Given the description of an element on the screen output the (x, y) to click on. 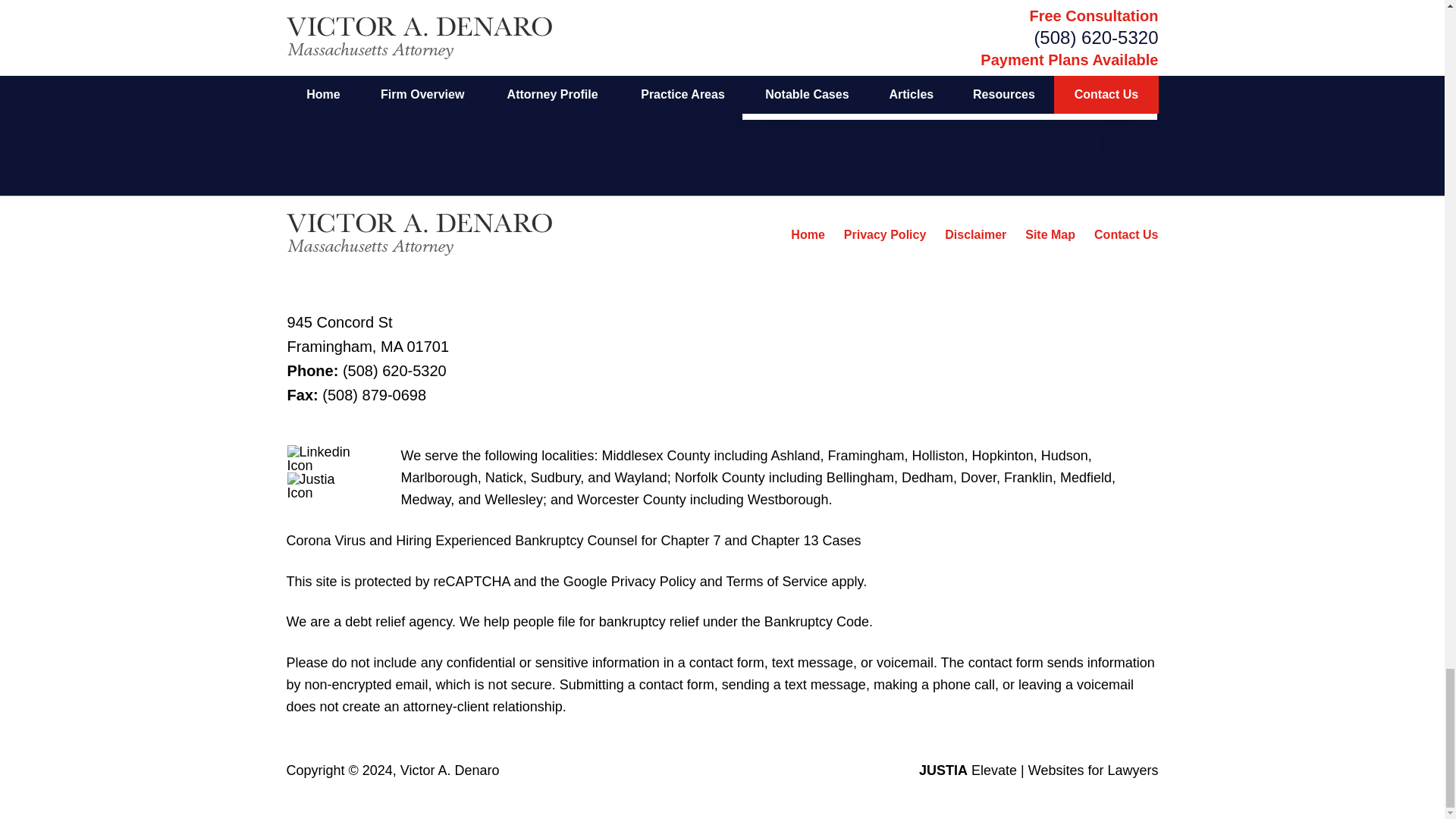
Privacy Policy (885, 234)
Site Map (1050, 234)
Linkedin (323, 458)
Disclaimer (975, 234)
Contact Us Now (950, 70)
Home (807, 234)
Justia (323, 485)
